Given the description of an element on the screen output the (x, y) to click on. 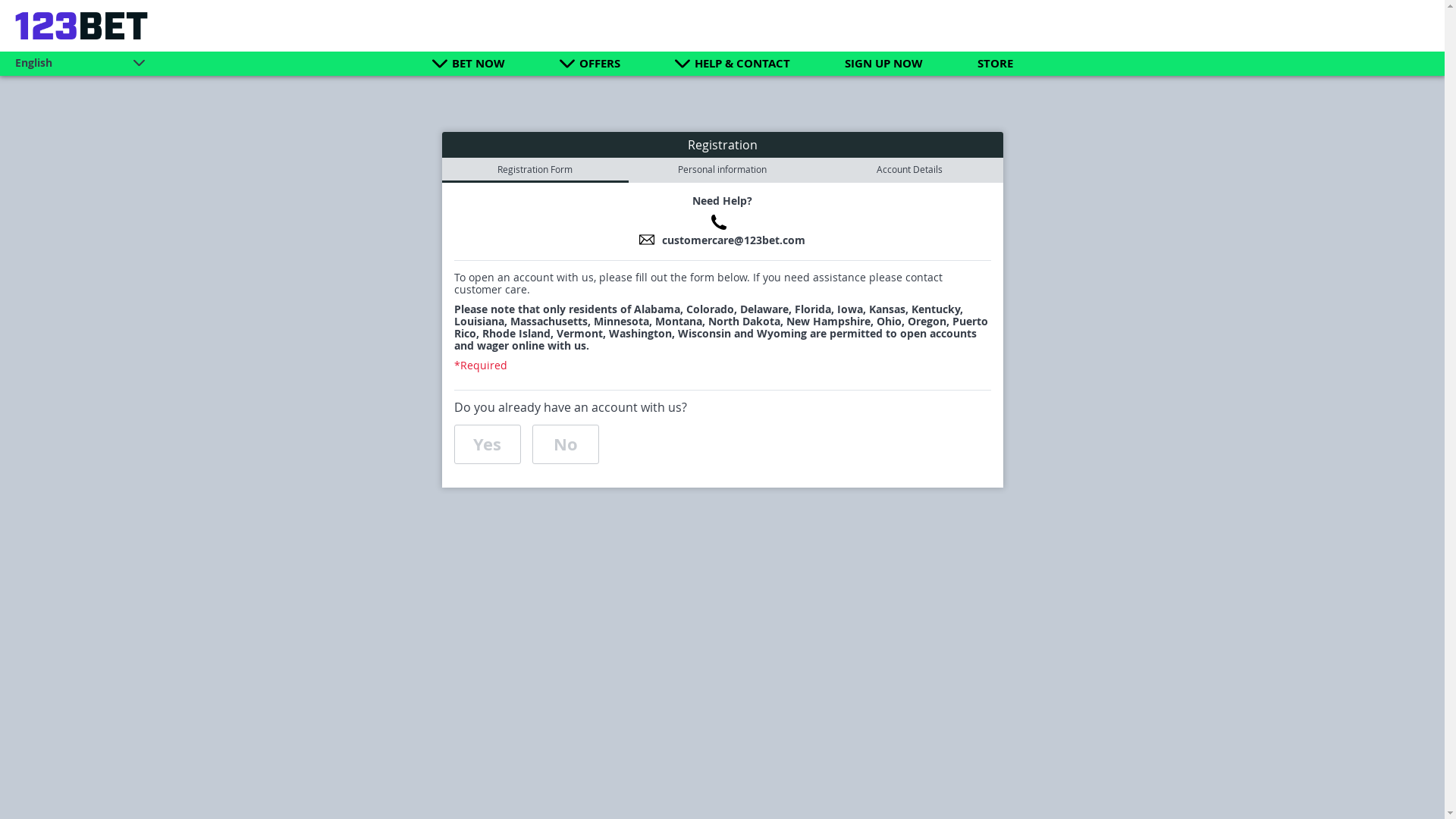
STORE Element type: text (994, 63)
customercare@123bet.com Element type: text (733, 240)
